Given the description of an element on the screen output the (x, y) to click on. 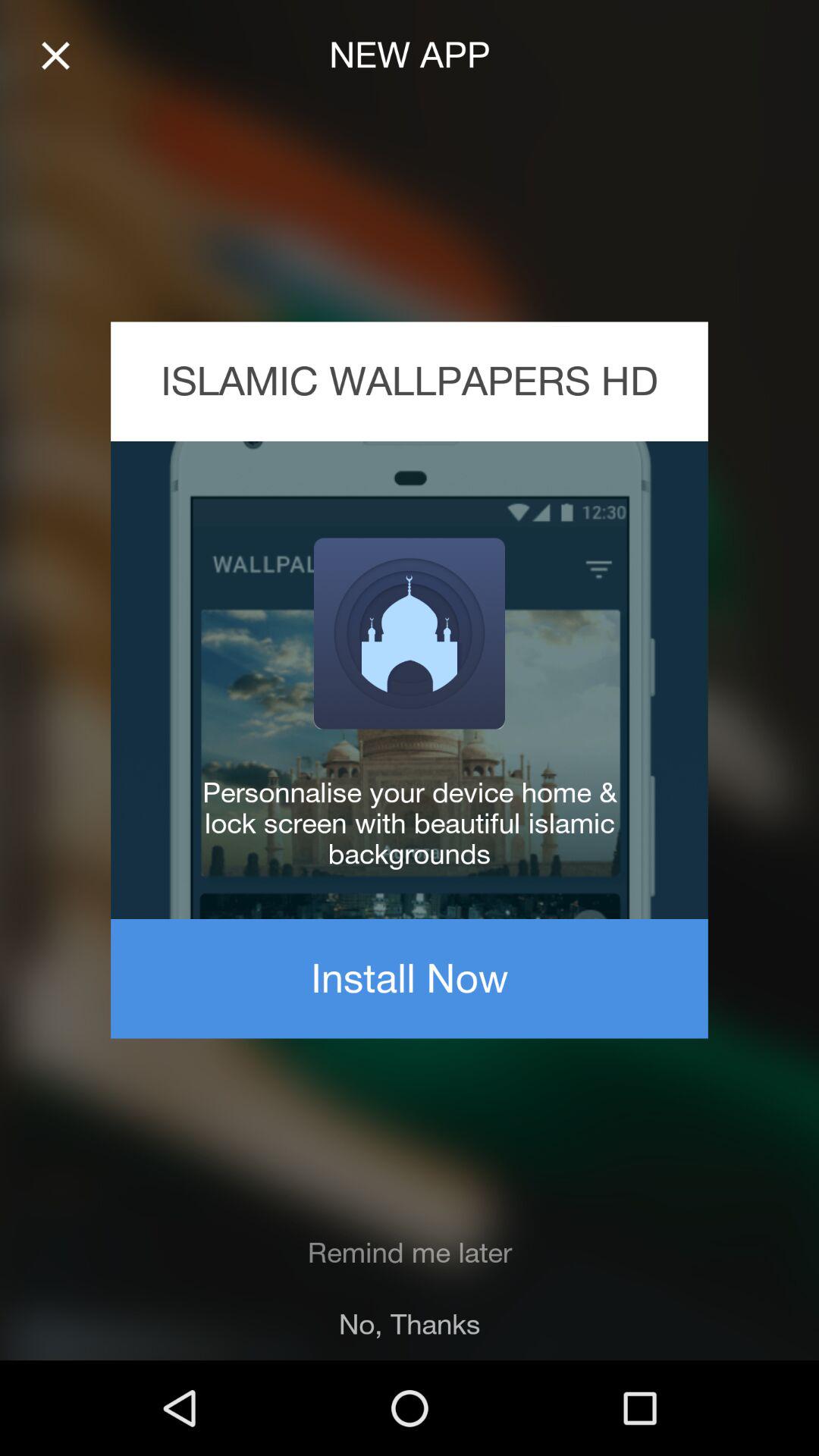
jump to install now item (409, 978)
